Given the description of an element on the screen output the (x, y) to click on. 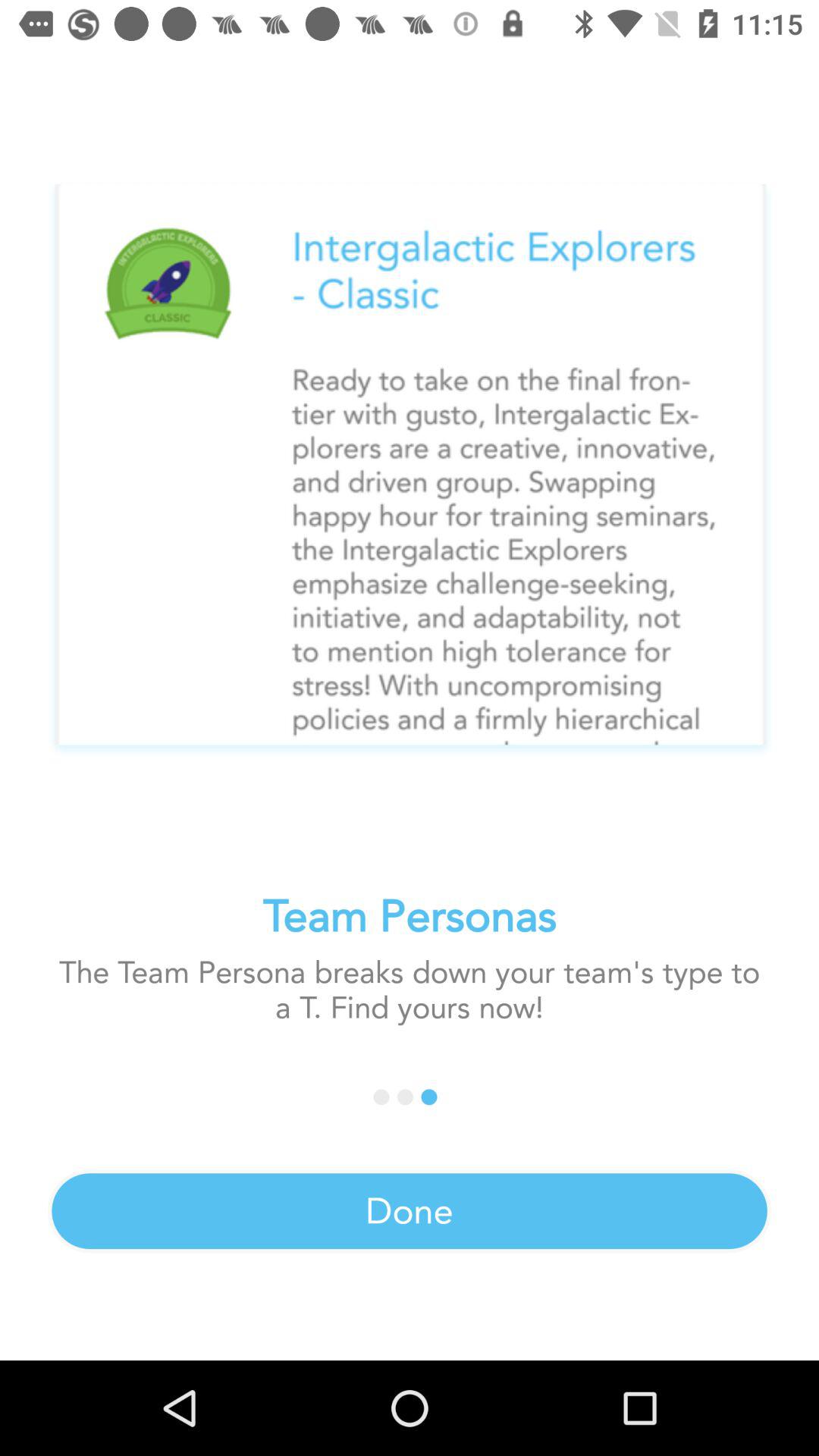
swipe until done (409, 1210)
